Given the description of an element on the screen output the (x, y) to click on. 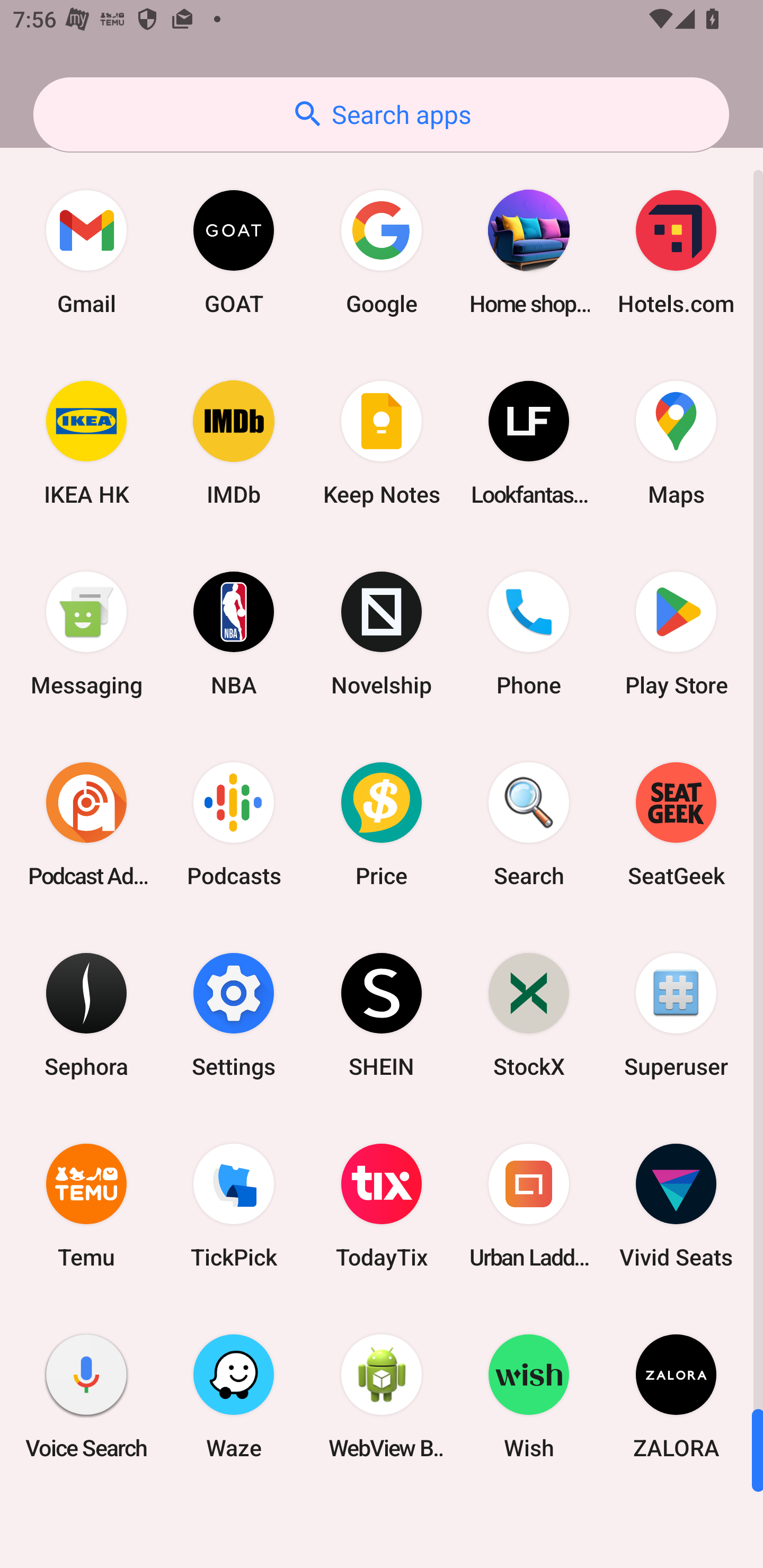
  Search apps (381, 114)
Gmail (86, 252)
GOAT (233, 252)
Google (381, 252)
Home shopping (528, 252)
Hotels.com (676, 252)
IKEA HK (86, 442)
IMDb (233, 442)
Keep Notes (381, 442)
Lookfantastic (528, 442)
Maps (676, 442)
Messaging (86, 633)
NBA (233, 633)
Novelship (381, 633)
Phone (528, 633)
Play Store (676, 633)
Podcast Addict (86, 823)
Podcasts (233, 823)
Price (381, 823)
Search (528, 823)
SeatGeek (676, 823)
Sephora (86, 1014)
Settings (233, 1014)
SHEIN (381, 1014)
StockX (528, 1014)
Superuser (676, 1014)
Temu (86, 1205)
TickPick (233, 1205)
TodayTix (381, 1205)
Urban Ladder (528, 1205)
Vivid Seats (676, 1205)
Voice Search (86, 1396)
Waze (233, 1396)
WebView Browser Tester (381, 1396)
Wish (528, 1396)
ZALORA (676, 1396)
